Given the description of an element on the screen output the (x, y) to click on. 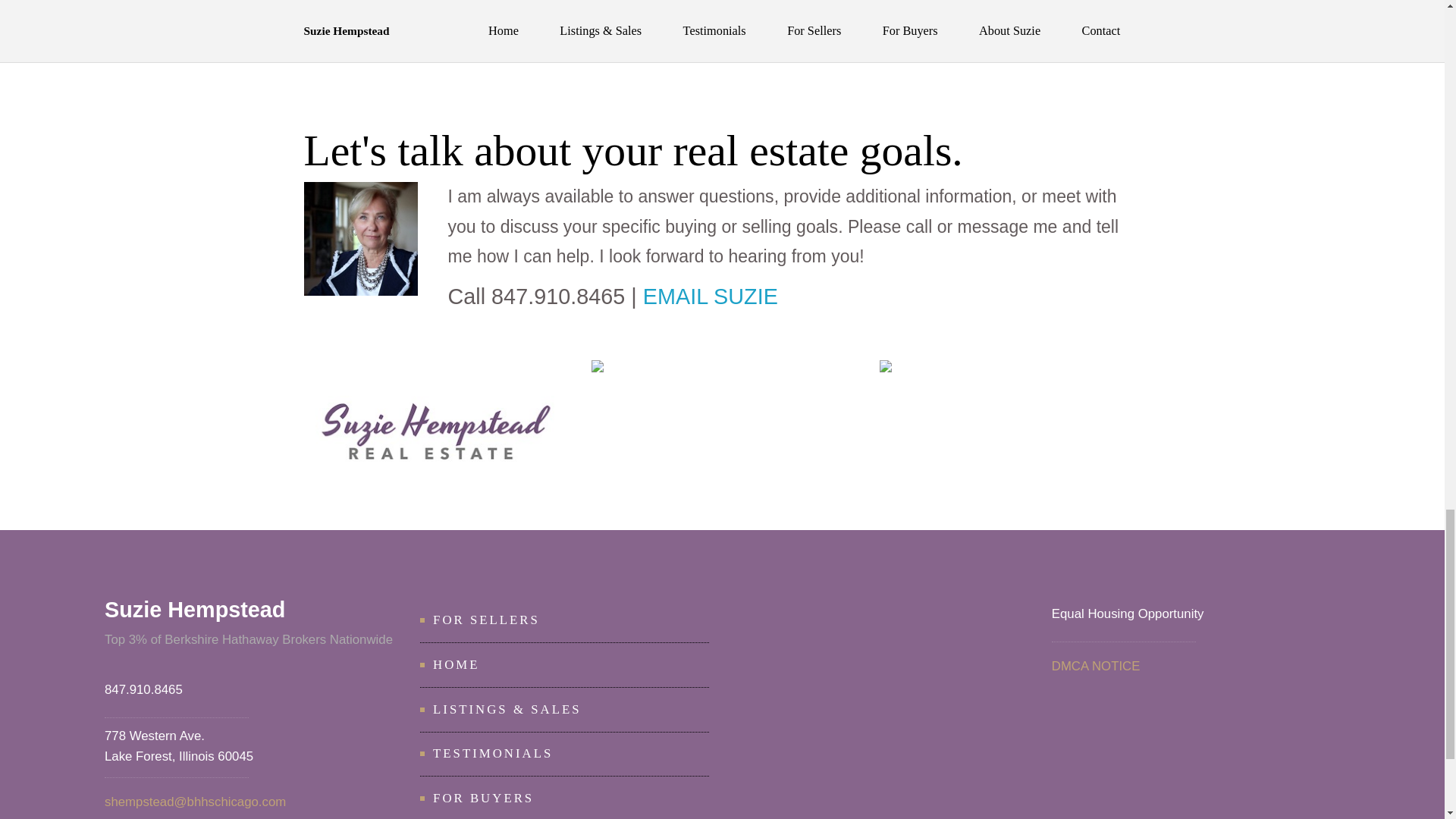
FOR BUYERS (483, 798)
DMCA NOTICE (1095, 666)
TESTIMONIALS (492, 753)
EMAIL SUZIE (710, 296)
HOME (455, 664)
FOR SELLERS (486, 619)
